Given the description of an element on the screen output the (x, y) to click on. 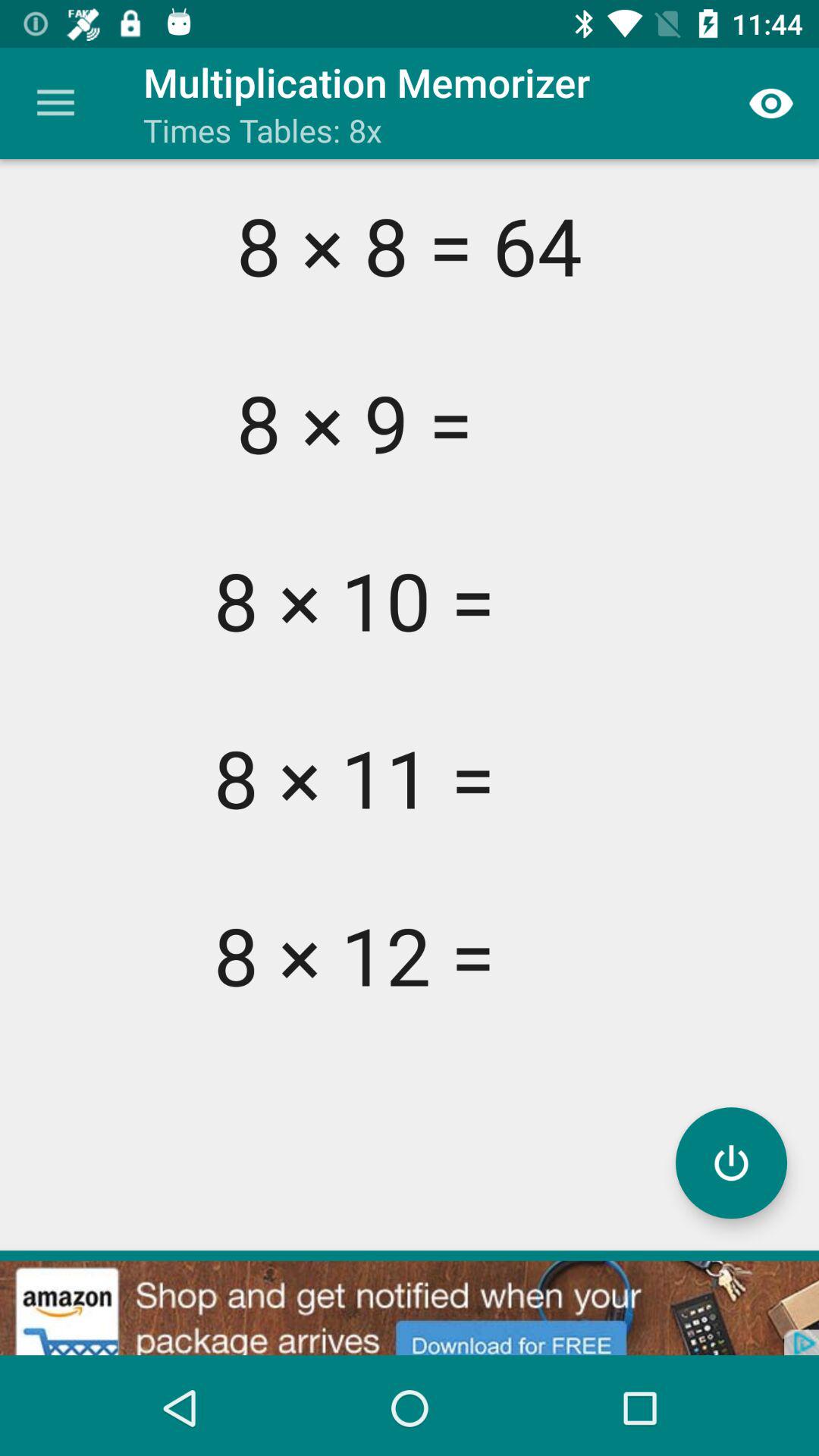
power off (731, 1162)
